Given the description of an element on the screen output the (x, y) to click on. 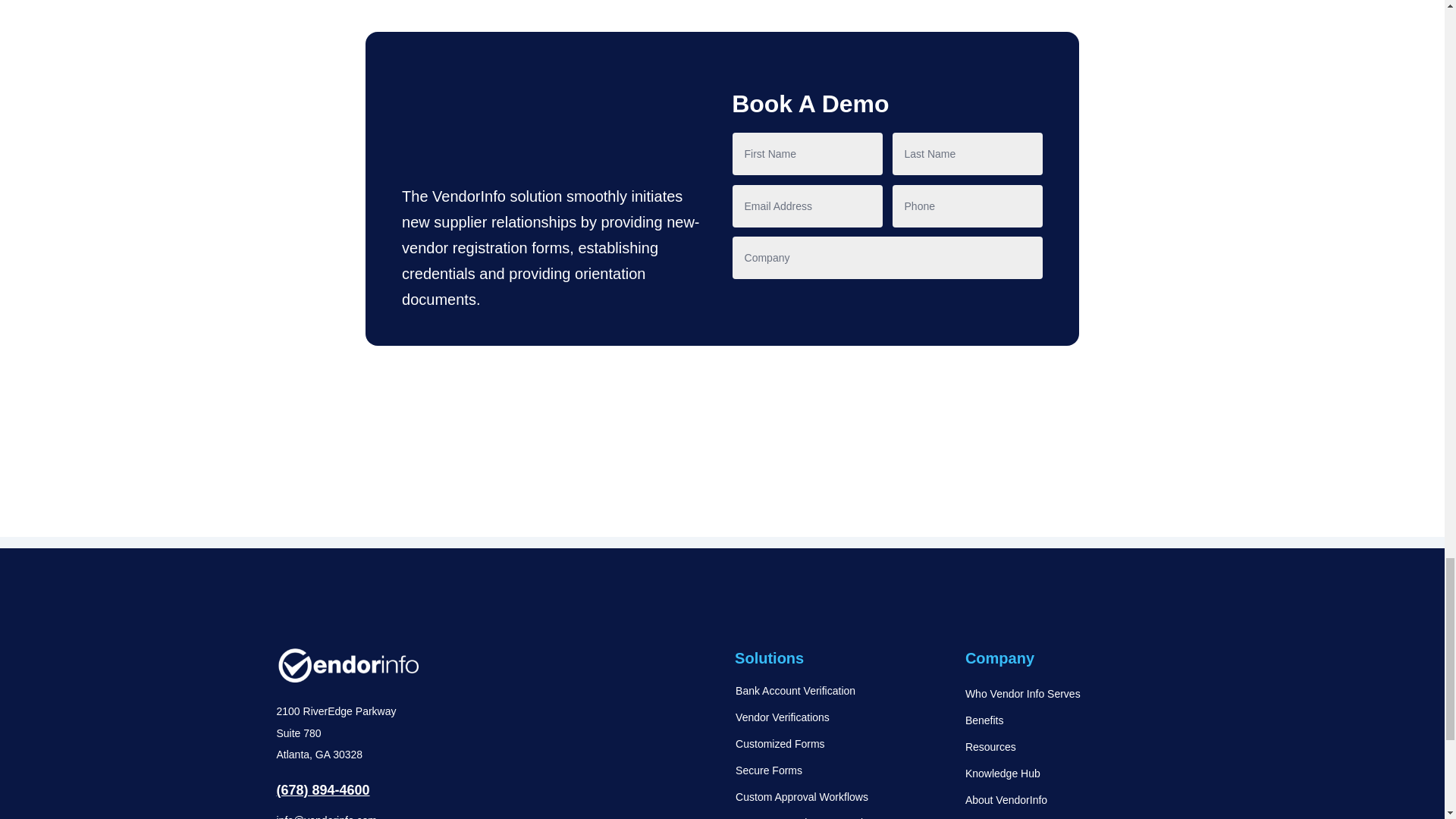
VendorInfo-white (346, 664)
